Given the description of an element on the screen output the (x, y) to click on. 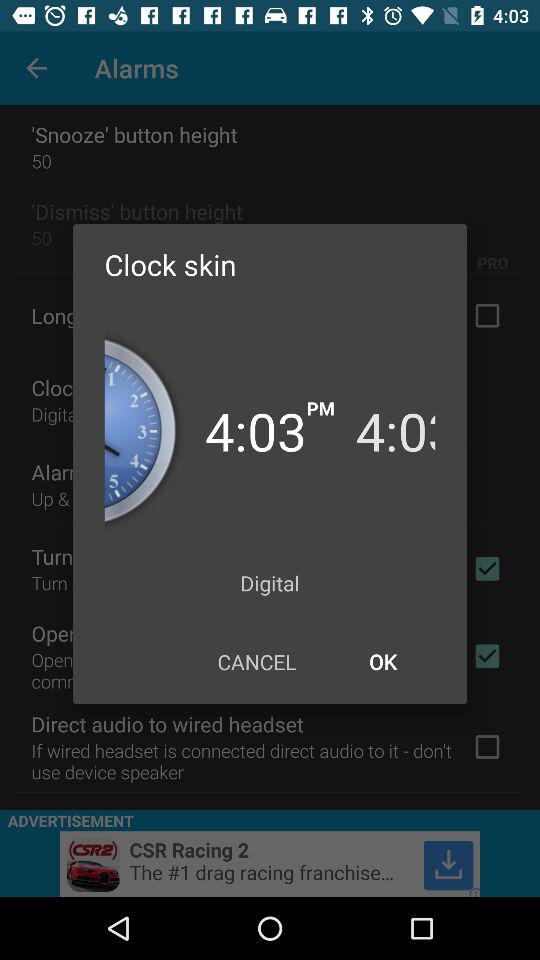
click item below the digital item (382, 661)
